Given the description of an element on the screen output the (x, y) to click on. 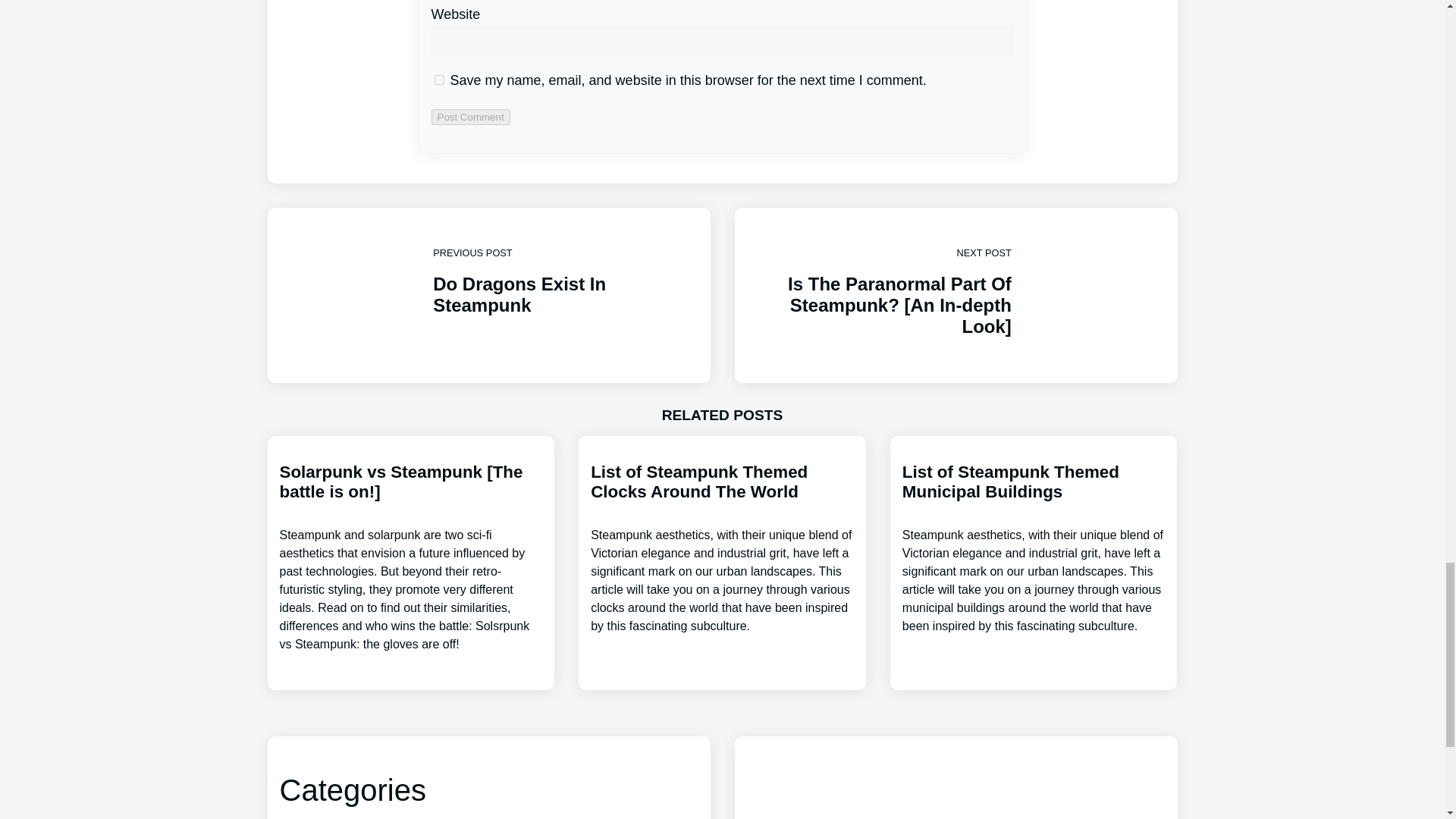
Post Comment (469, 116)
Post Comment (469, 116)
List of Steampunk Themed Municipal Buildings (1034, 548)
List of Steampunk Themed Clocks Around The World (488, 296)
yes (722, 548)
